Given the description of an element on the screen output the (x, y) to click on. 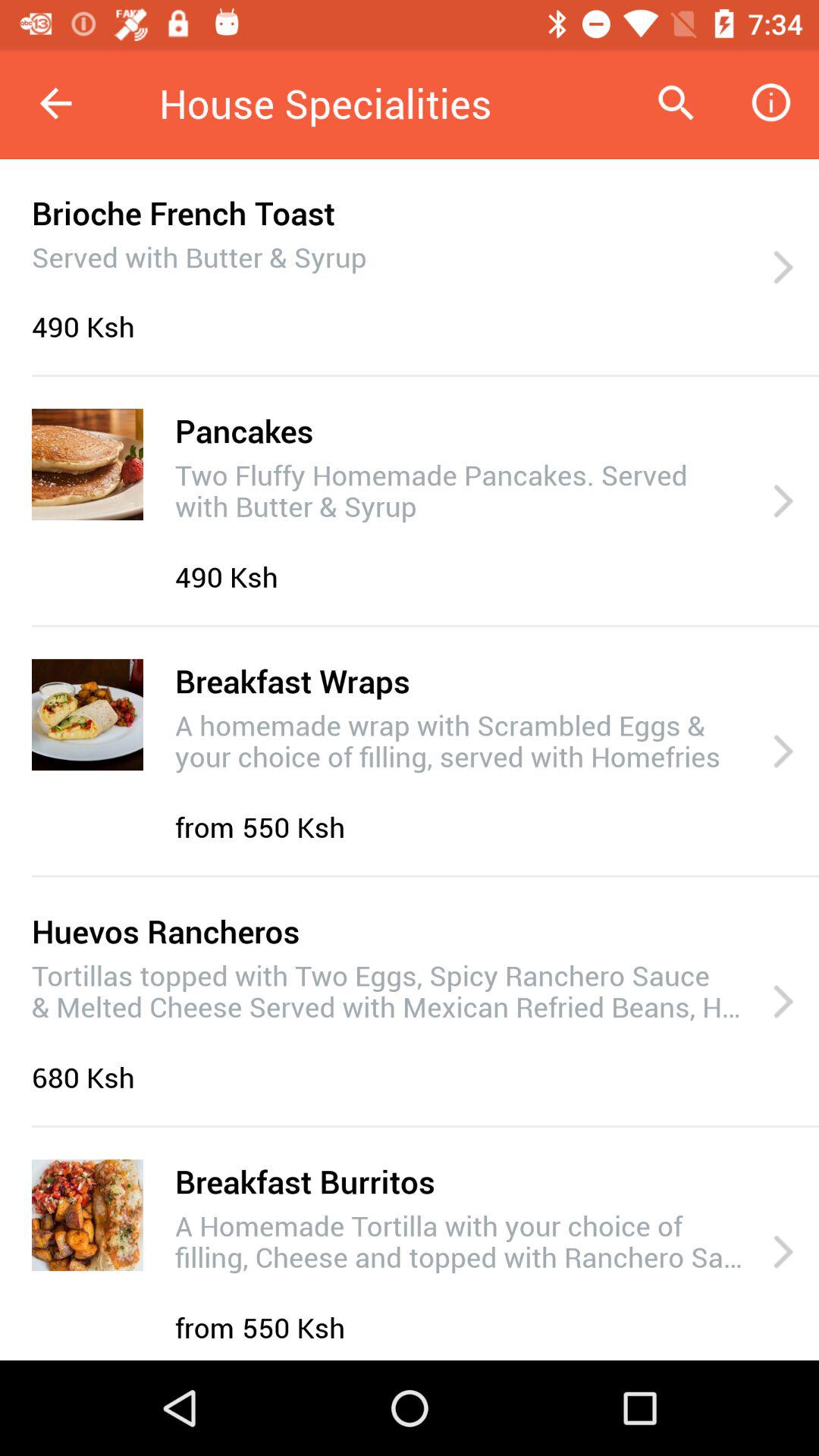
launch item to the right of served with butter icon (783, 268)
